Given the description of an element on the screen output the (x, y) to click on. 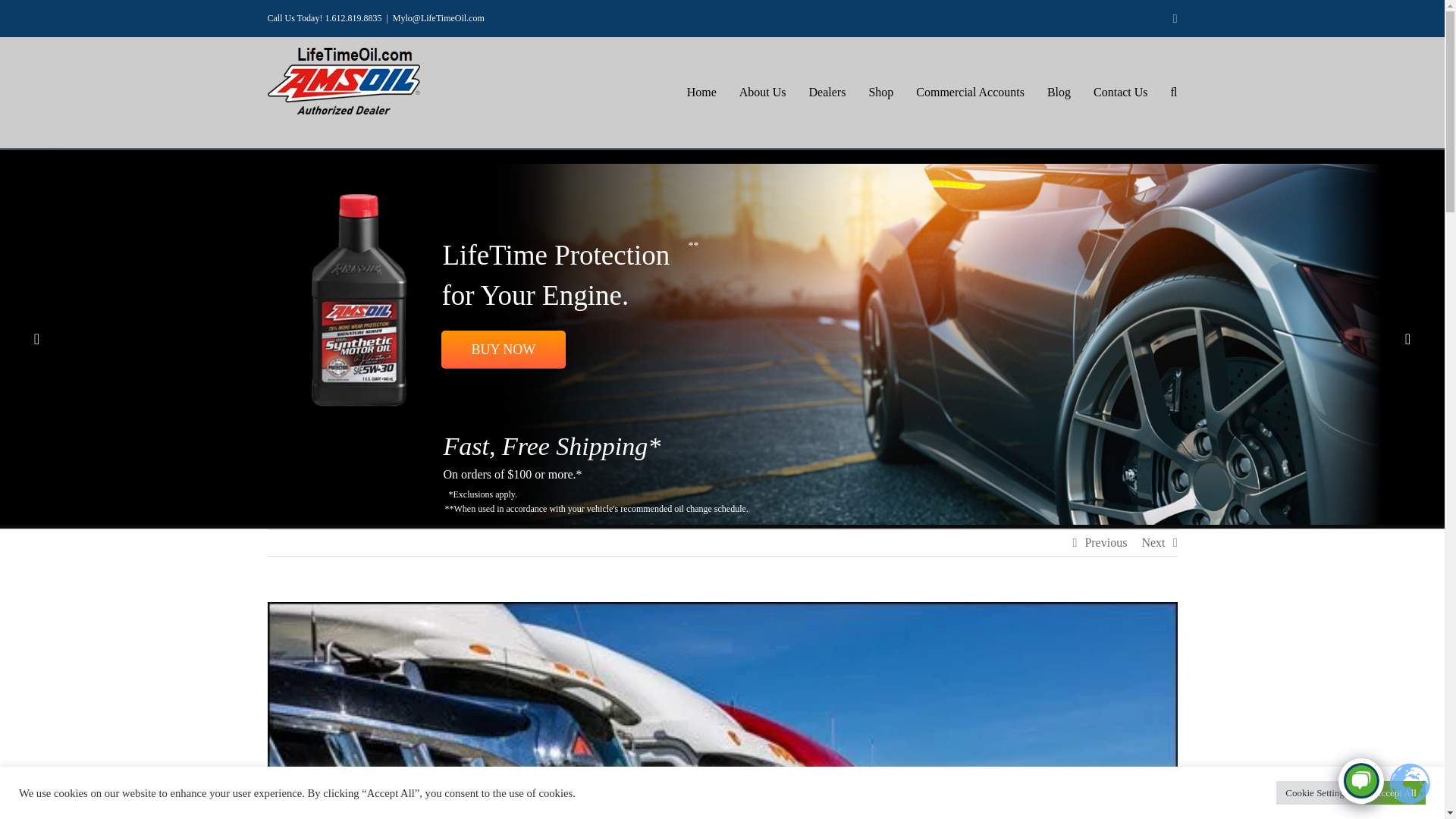
Contact Us (1120, 92)
Home (701, 92)
Facebook (1175, 18)
Shop (880, 92)
About Us (762, 92)
Dealers (827, 92)
Commercial Accounts (970, 92)
Blog (1058, 92)
